Given the description of an element on the screen output the (x, y) to click on. 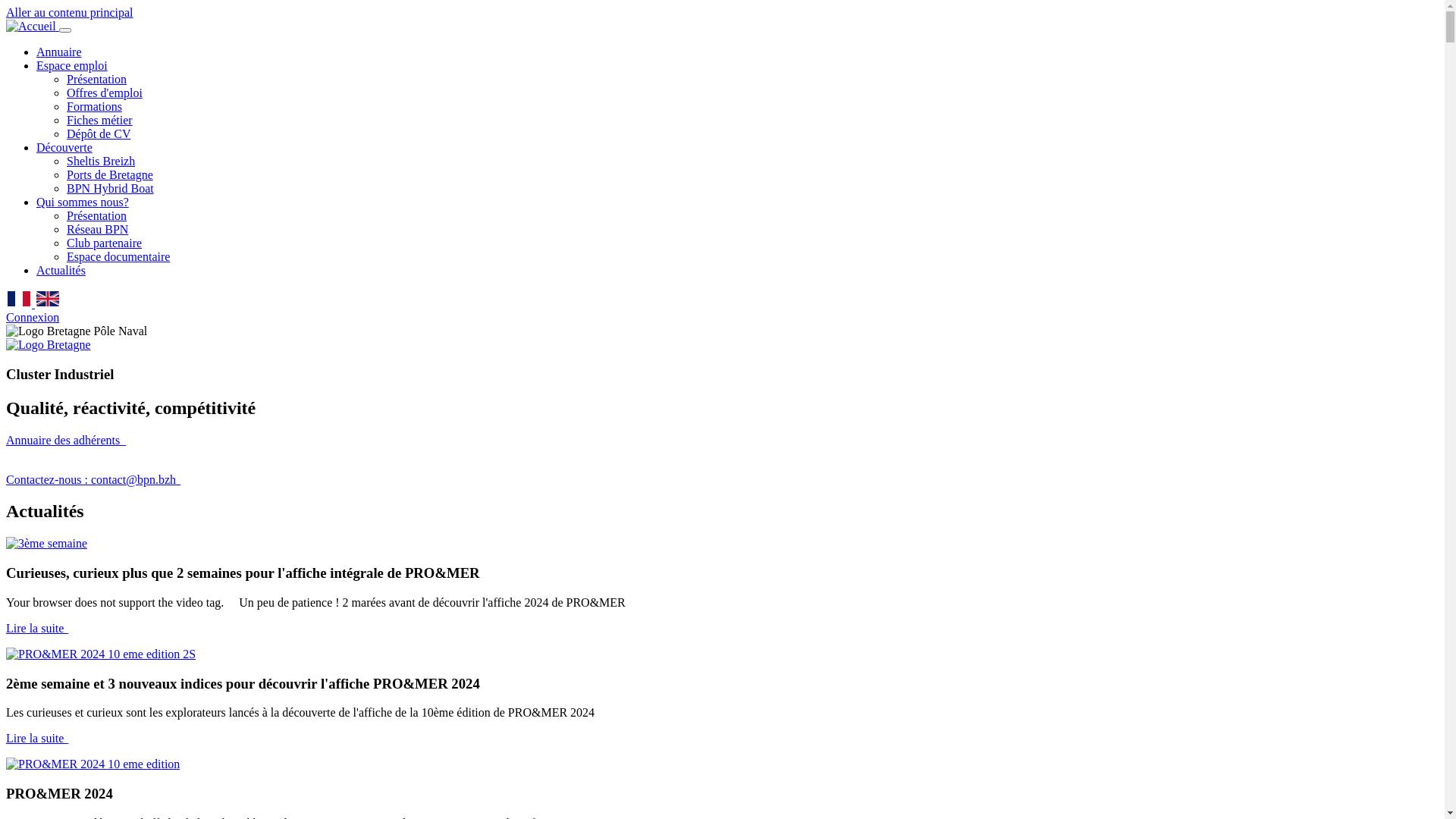
Connexion Element type: text (32, 316)
Aller au contenu principal Element type: text (69, 12)
Espace documentaire Element type: text (117, 256)
Formations Element type: text (94, 106)
Sheltis Breizh Element type: text (100, 160)
Club partenaire Element type: text (103, 242)
Espace emploi Element type: text (71, 65)
BPN Hybrid Boat Element type: text (109, 188)
Lire la suite Element type: text (37, 627)
French Element type: hover (18, 298)
English Element type: hover (47, 298)
Qui sommes nous? Element type: text (82, 201)
Accueil Element type: hover (32, 25)
Ports de Bretagne Element type: text (109, 174)
Contactez-nous : contact@bpn.bzh Element type: text (93, 479)
Offres d'emploi Element type: text (104, 92)
Lire la suite Element type: text (37, 737)
Annuaire Element type: text (58, 51)
